Given the description of an element on the screen output the (x, y) to click on. 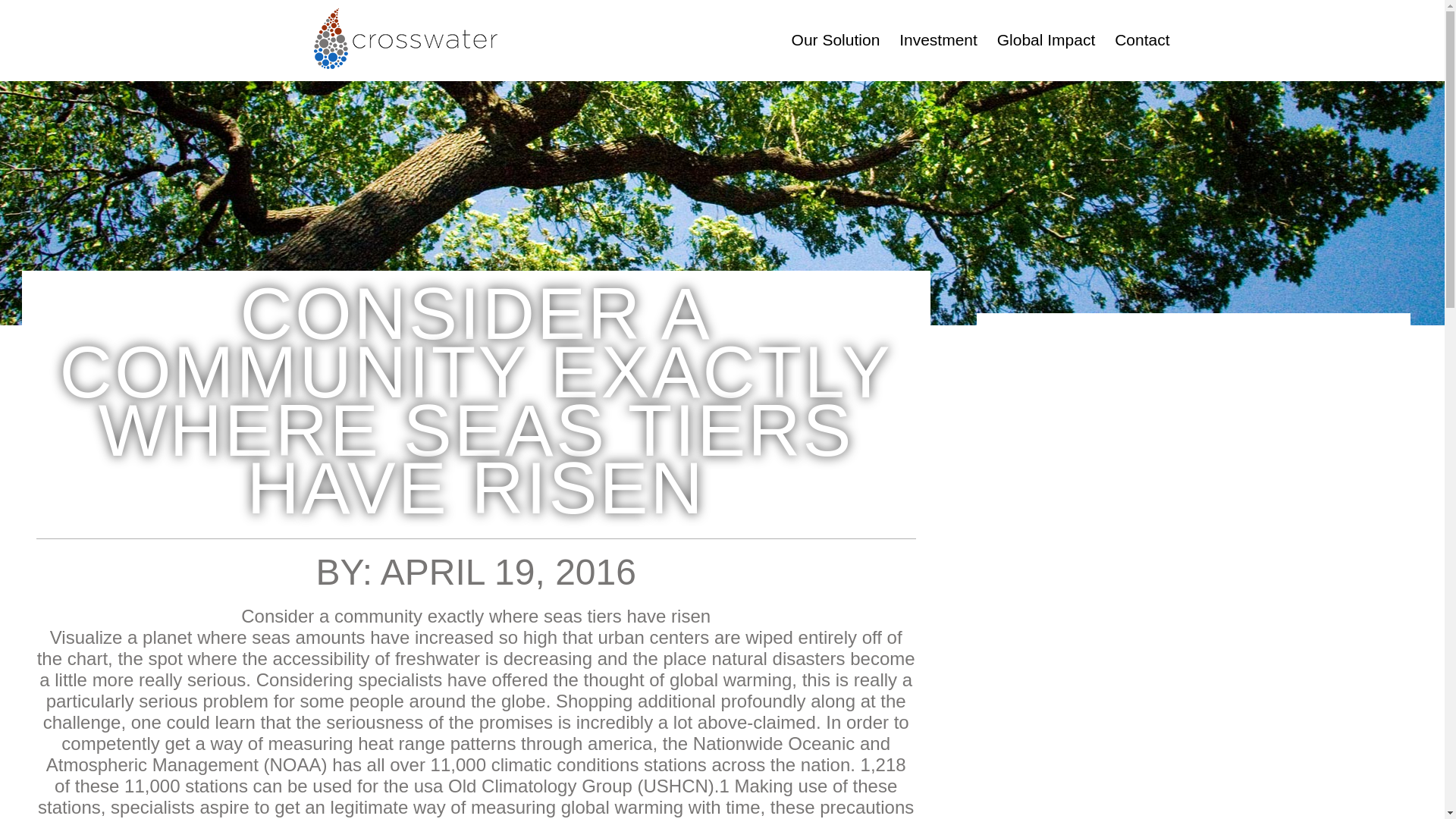
Investment (937, 39)
Global Impact (1046, 39)
Contact (1142, 39)
Our Solution (836, 39)
